Given the description of an element on the screen output the (x, y) to click on. 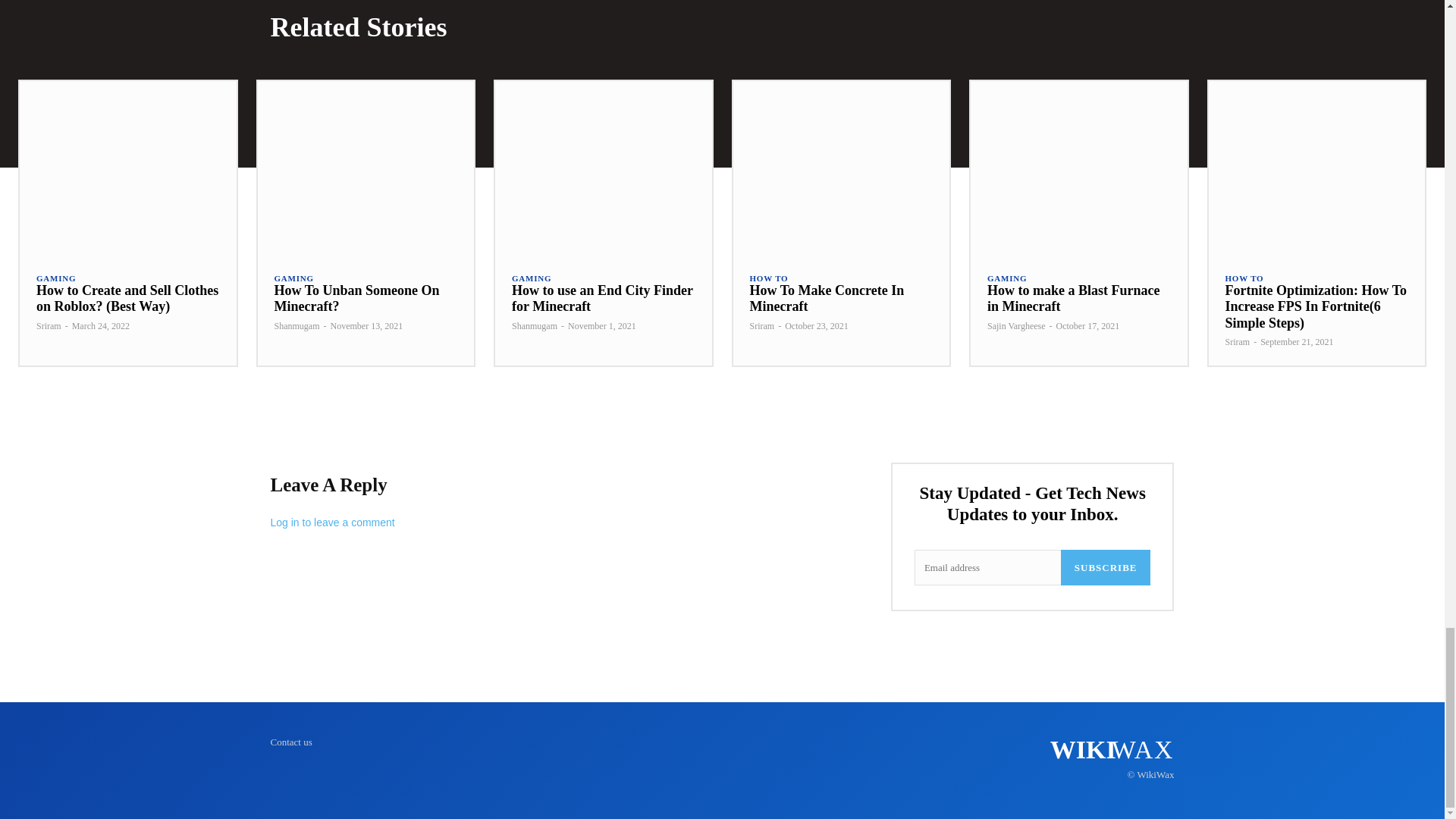
How To Make Concrete In Minecraft (826, 298)
How to use an End City Finder for Minecraft (602, 298)
How to use an End City Finder for Minecraft (603, 167)
How To Unban Someone On Minecraft? (365, 167)
How To Unban Someone On Minecraft? (357, 298)
How to make a Blast Furnace in Minecraft (1079, 167)
How To Make Concrete In Minecraft (840, 167)
How to make a Blast Furnace in Minecraft (1072, 298)
